Given the description of an element on the screen output the (x, y) to click on. 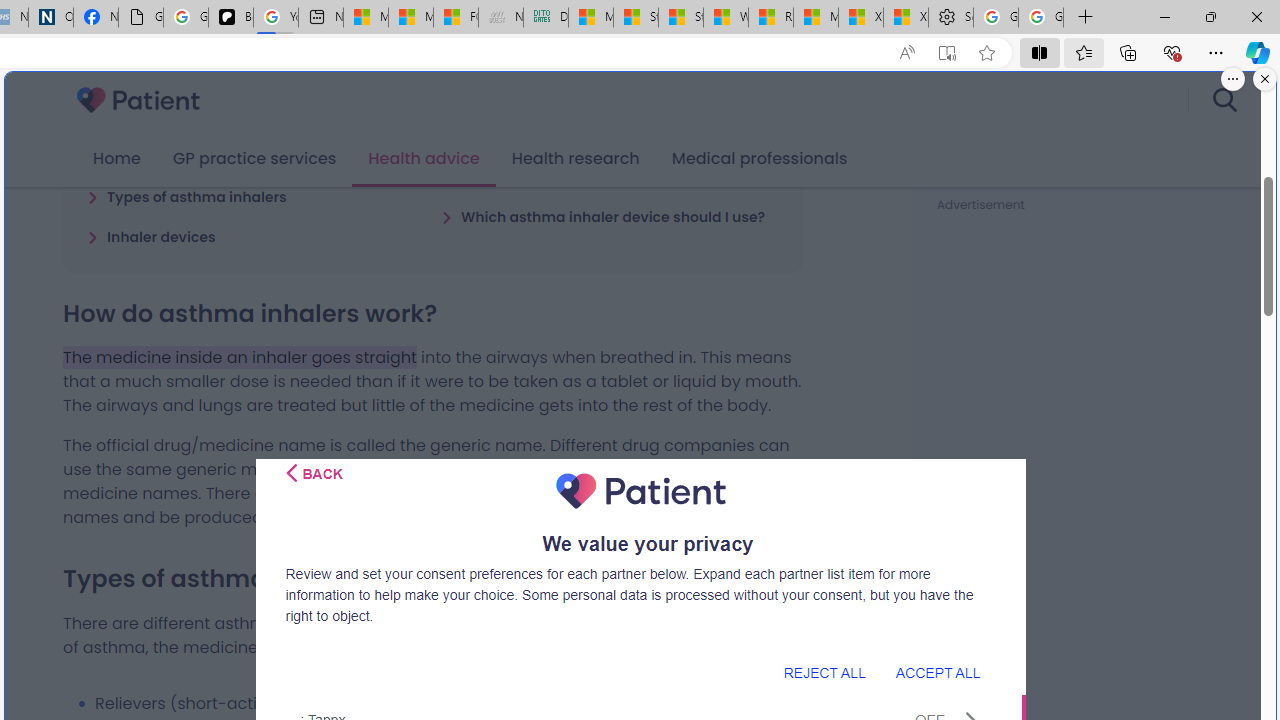
R******* | Trusted Community Engagement and Contributions (770, 17)
Medical professionals (759, 159)
How do asthma inhalers work? (206, 156)
Relievers (short-acting bronchodilators). (448, 703)
Health advice (424, 159)
Patient 3.0 (138, 100)
